Given the description of an element on the screen output the (x, y) to click on. 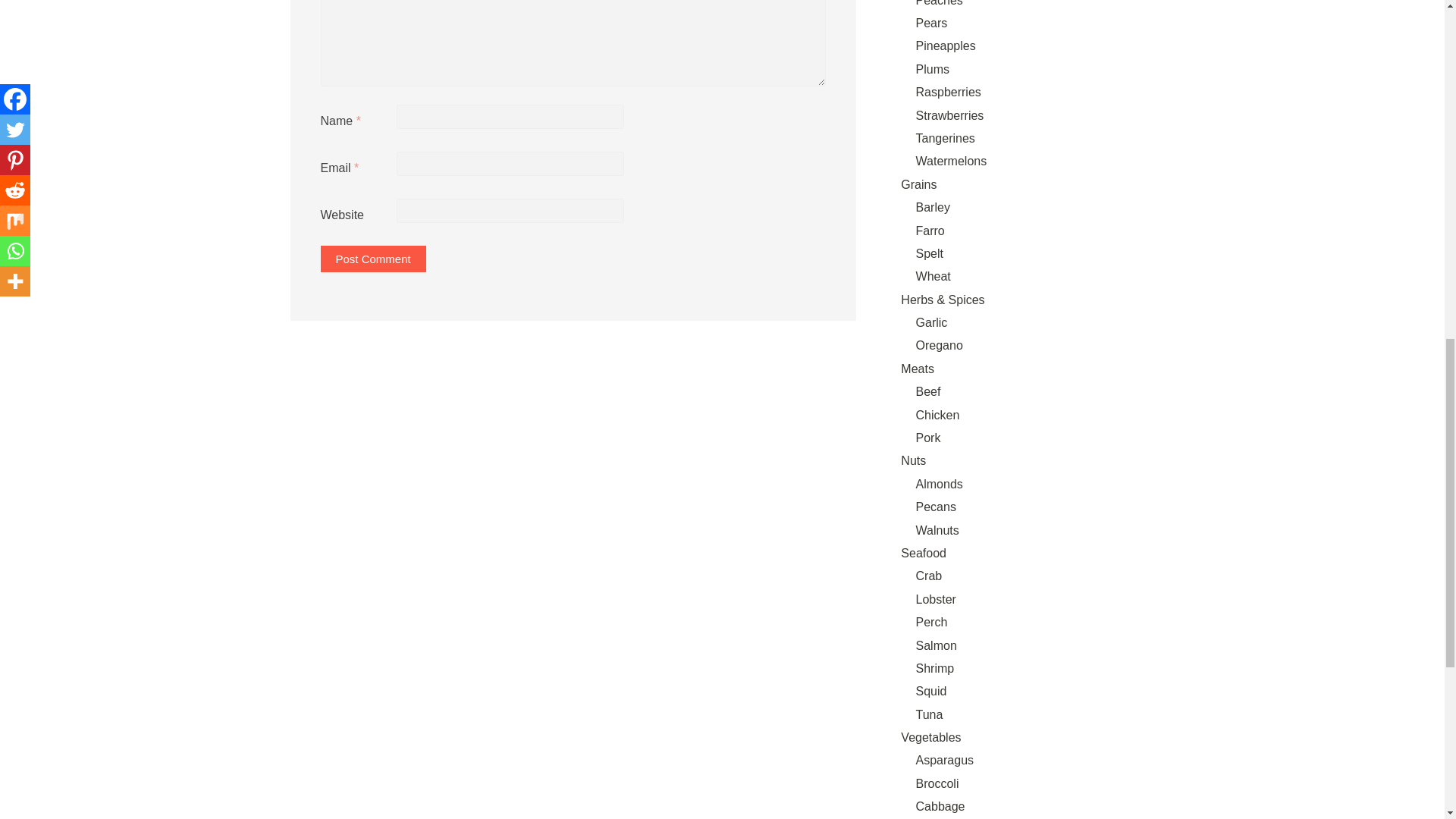
Post Comment (372, 258)
